Given the description of an element on the screen output the (x, y) to click on. 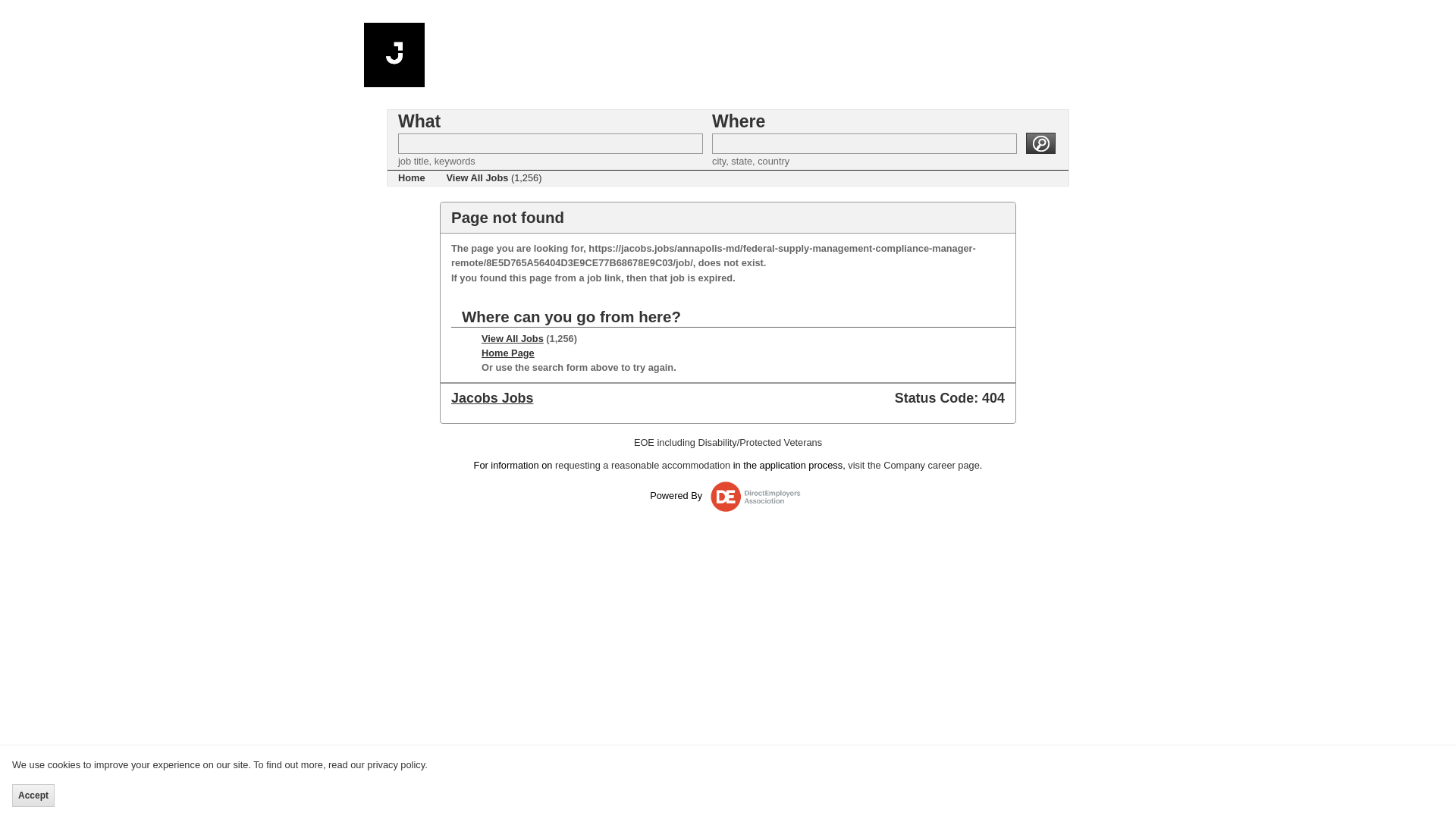
Submit Search (1040, 142)
Jacobs Jobs (491, 397)
search (1040, 142)
Home (411, 177)
requesting a reasonable accommodation (642, 464)
search (1040, 142)
Search Phrase (550, 143)
View All Jobs (512, 337)
visit the Company career page (913, 464)
Search Location (863, 143)
Home Page (507, 352)
